Given the description of an element on the screen output the (x, y) to click on. 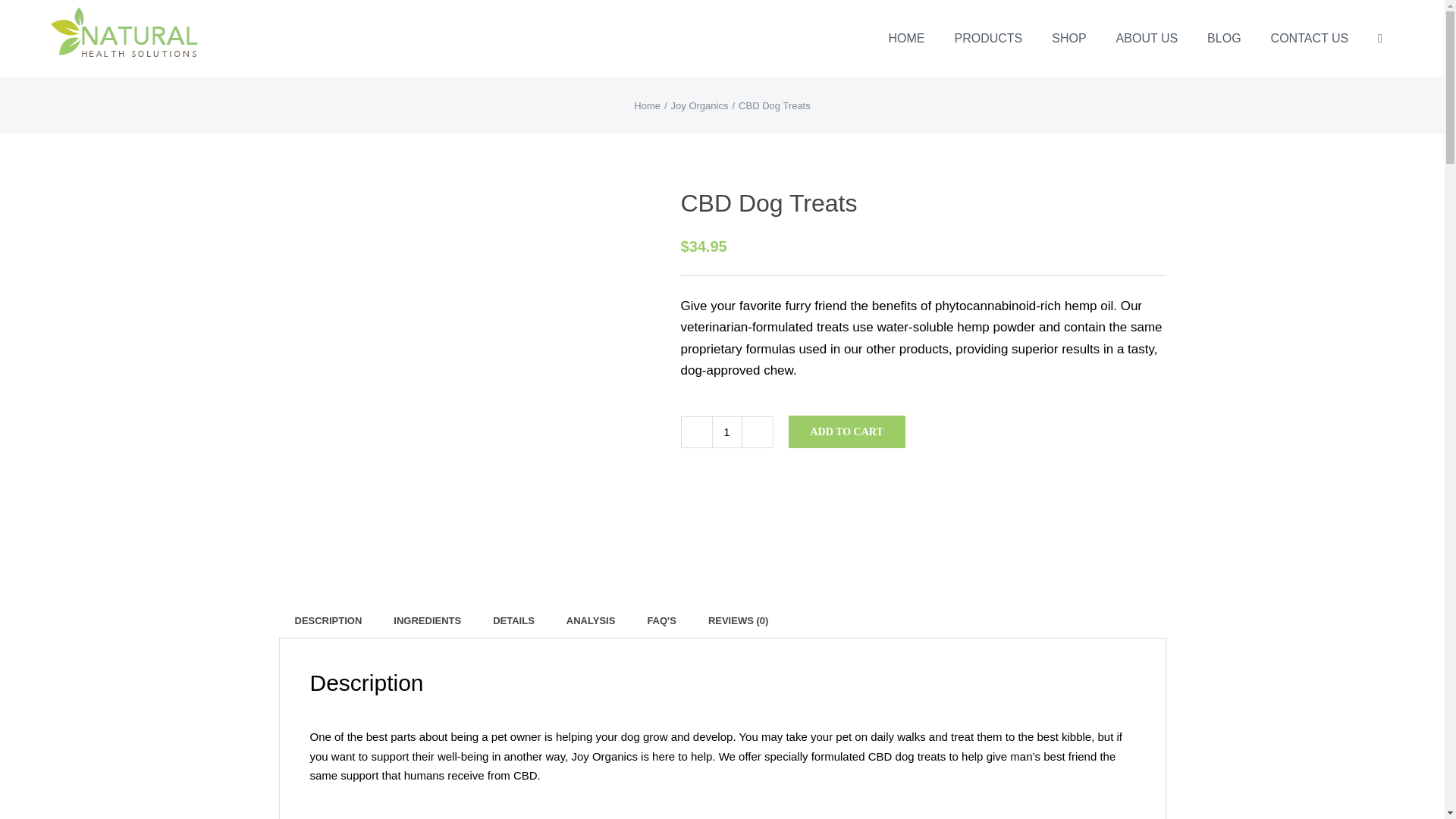
CONTACT US (1310, 38)
instagram (761, 767)
Joy Organics (700, 105)
FAQ'S (661, 621)
INGREDIENTS (427, 621)
ADD TO CART (847, 431)
ANALYSIS (590, 621)
Qty (726, 431)
1 (726, 431)
facebook (680, 767)
